Given the description of an element on the screen output the (x, y) to click on. 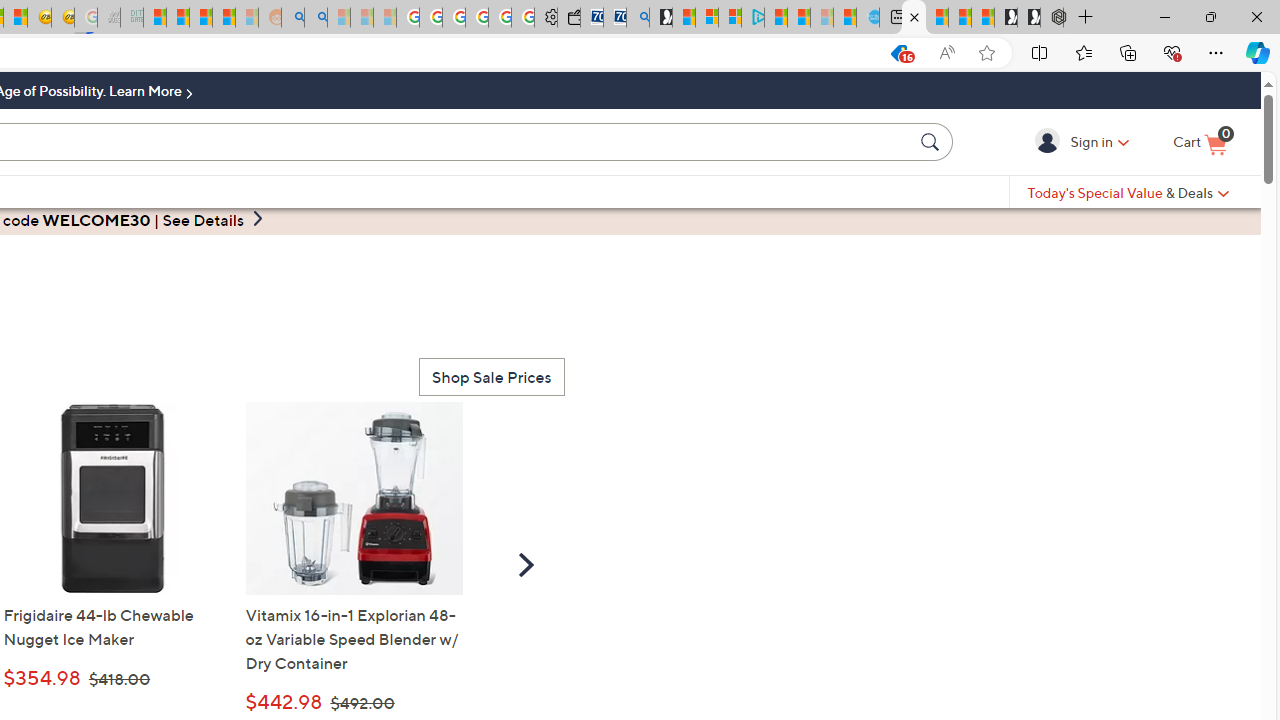
Today's Special Value & Deals (1128, 192)
